Given the description of an element on the screen output the (x, y) to click on. 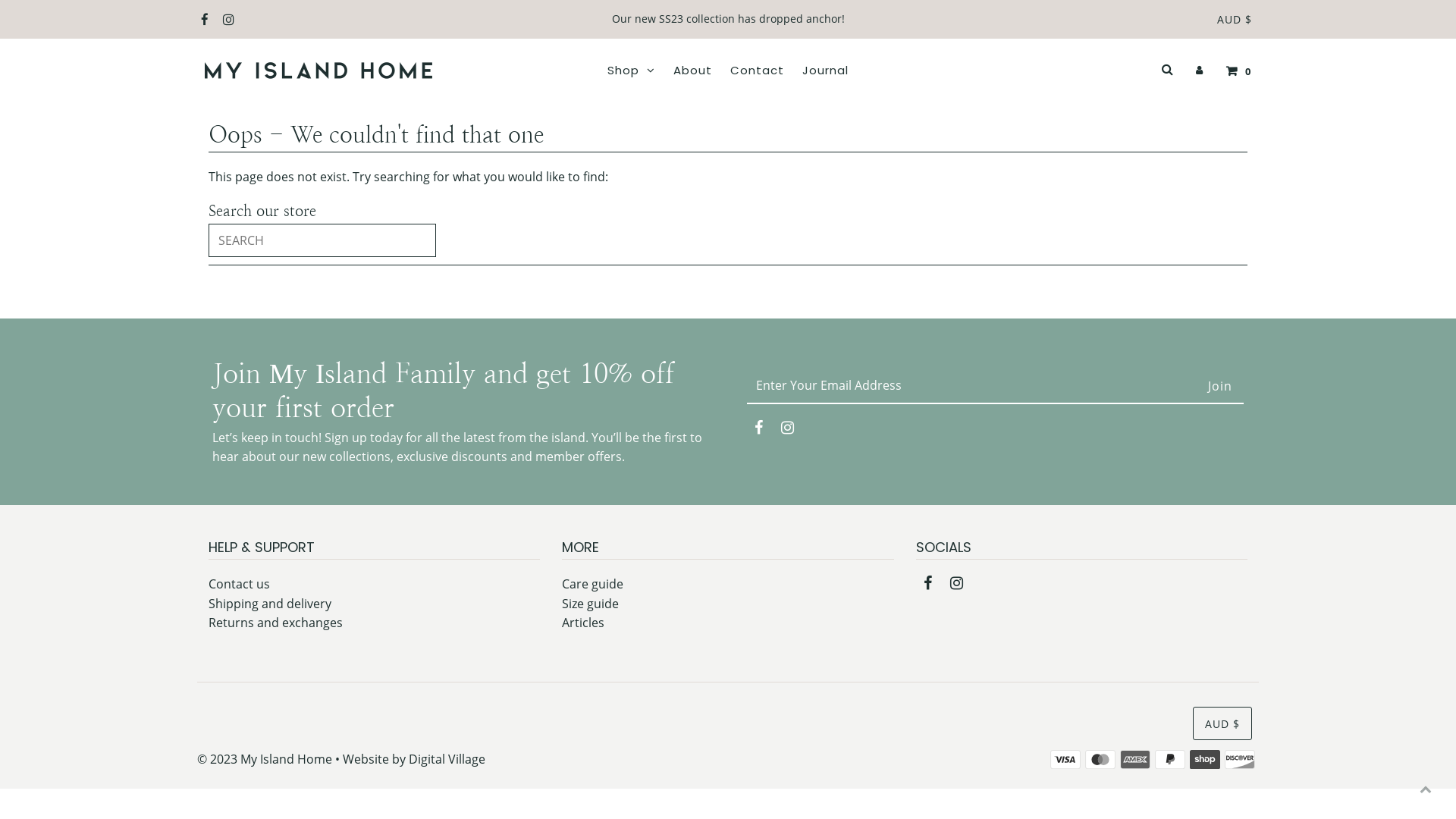
Journal Element type: text (825, 70)
Join Element type: text (1219, 385)
0 Element type: text (1234, 70)
About Element type: text (692, 70)
Shipping and delivery Element type: text (269, 603)
AUD $ Element type: text (1234, 19)
Articles Element type: text (582, 622)
AUD $ Element type: text (1222, 723)
Contact Element type: text (756, 70)
Our new SS23 collection has dropped anchor! Element type: text (727, 18)
Care guide Element type: text (592, 583)
Shop Element type: text (630, 70)
Returns and exchanges Element type: text (275, 622)
Size guide Element type: text (589, 603)
Website by Digital Village Element type: text (413, 758)
Contact us Element type: text (238, 583)
